Given the description of an element on the screen output the (x, y) to click on. 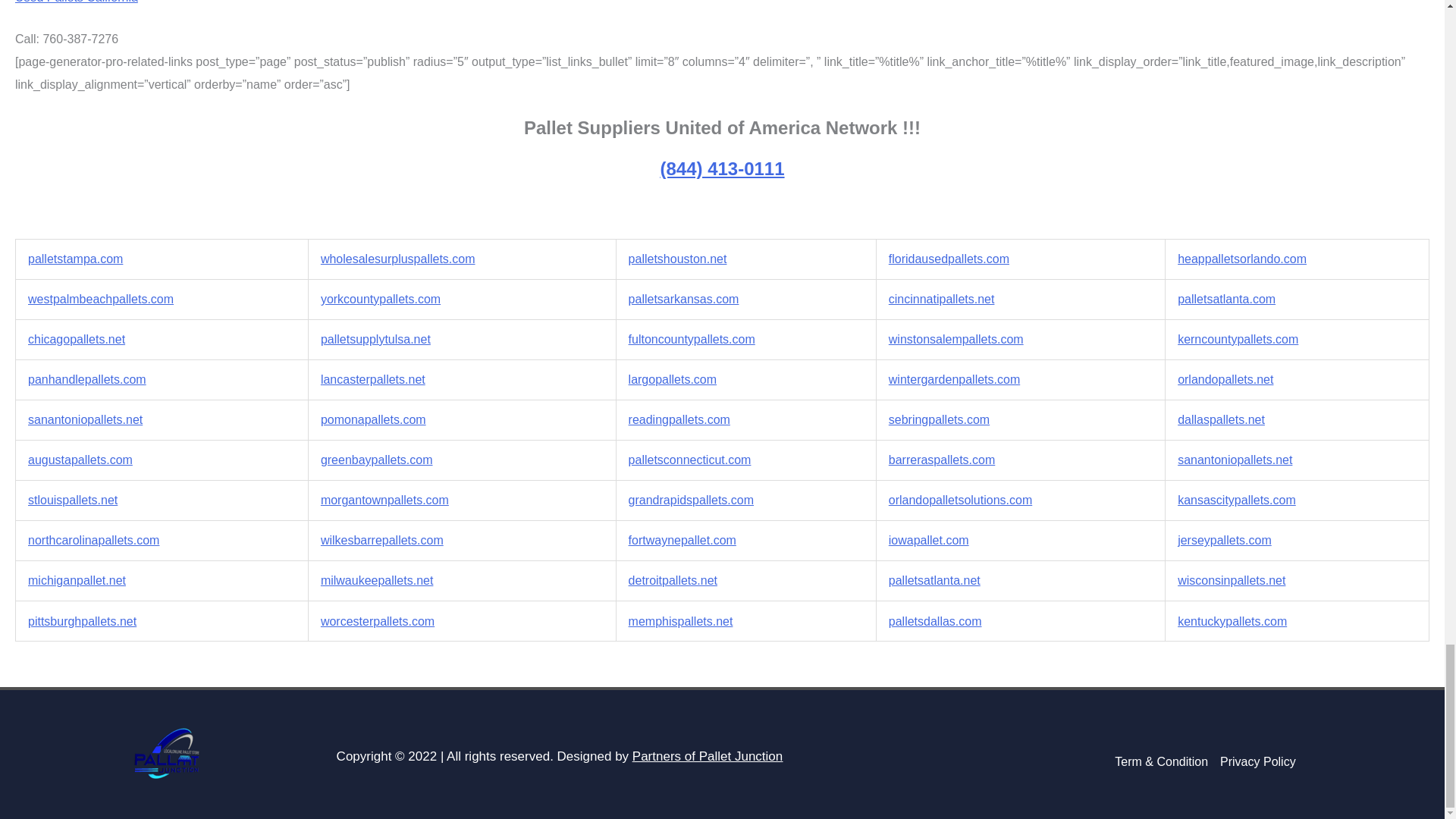
palletsatlanta.com (1226, 298)
Used Pallets California (76, 2)
cincinnatipallets.net (941, 298)
winstonsalempallets.com (955, 338)
heappalletsorlando.com (1241, 258)
wintergardenpallets.com (954, 379)
wholesalesurpluspallets.com (398, 258)
palletsupplytulsa.net (375, 338)
palletshouston.net (677, 258)
fultoncountypallets.com (691, 338)
largopallets.com (672, 379)
floridausedpallets.com (948, 258)
chicagopallets.net (76, 338)
yorkcountypallets.com (380, 298)
lancasterpallets.net (372, 379)
